Given the description of an element on the screen output the (x, y) to click on. 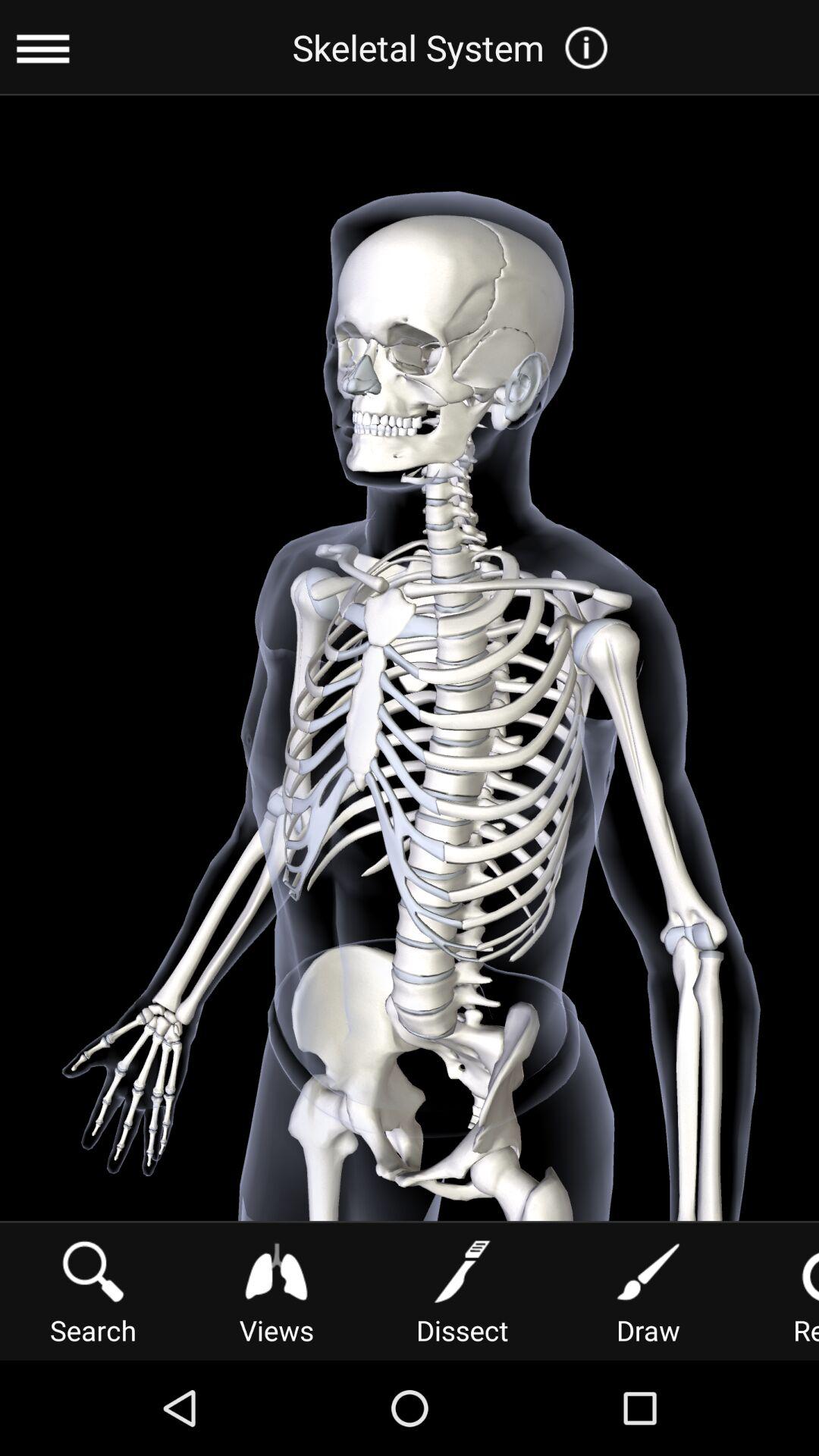
choose item next to the dissect icon (276, 1290)
